Given the description of an element on the screen output the (x, y) to click on. 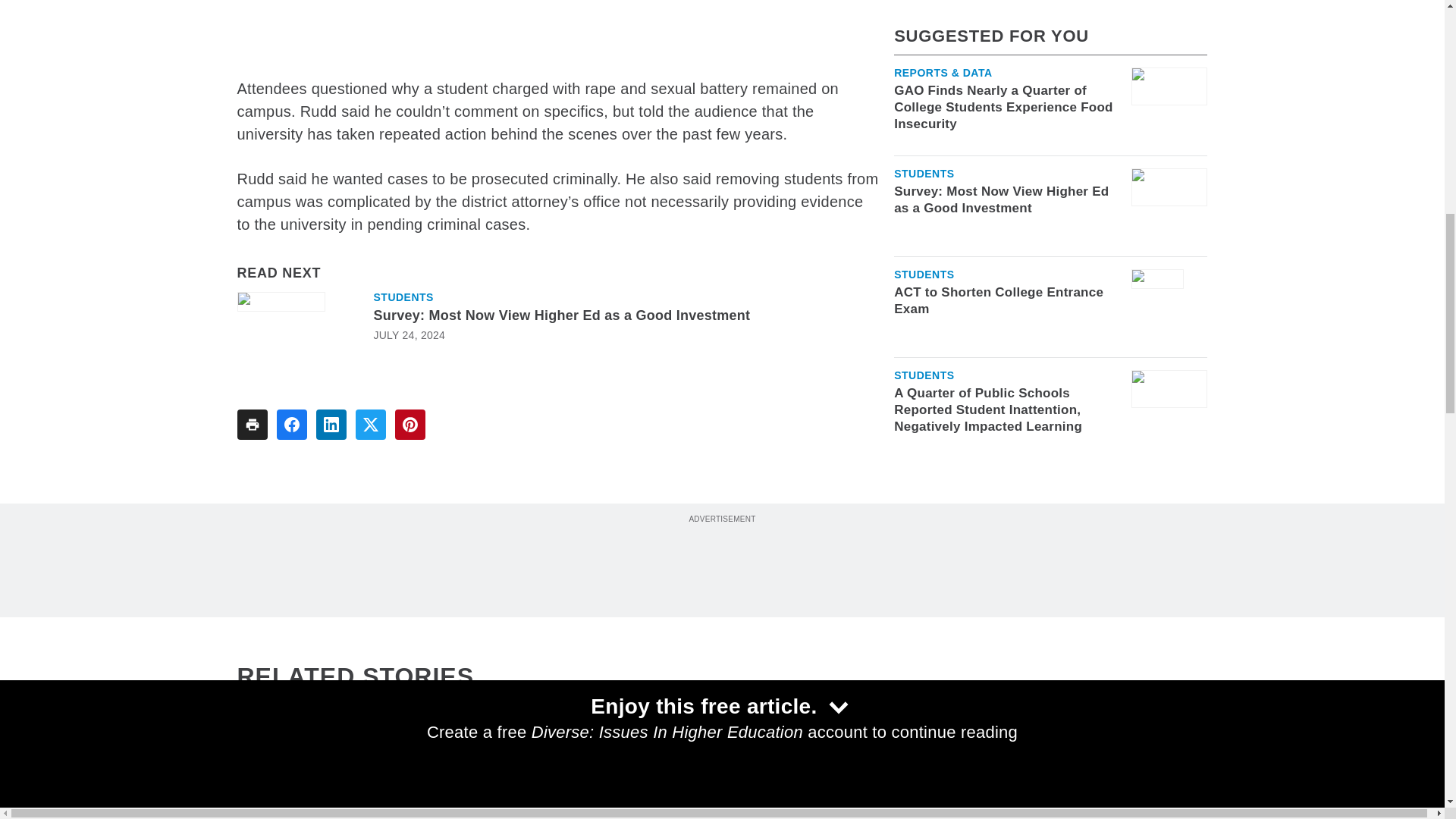
Share To print (250, 424)
Students (402, 296)
Share To facebook (290, 424)
